Given the description of an element on the screen output the (x, y) to click on. 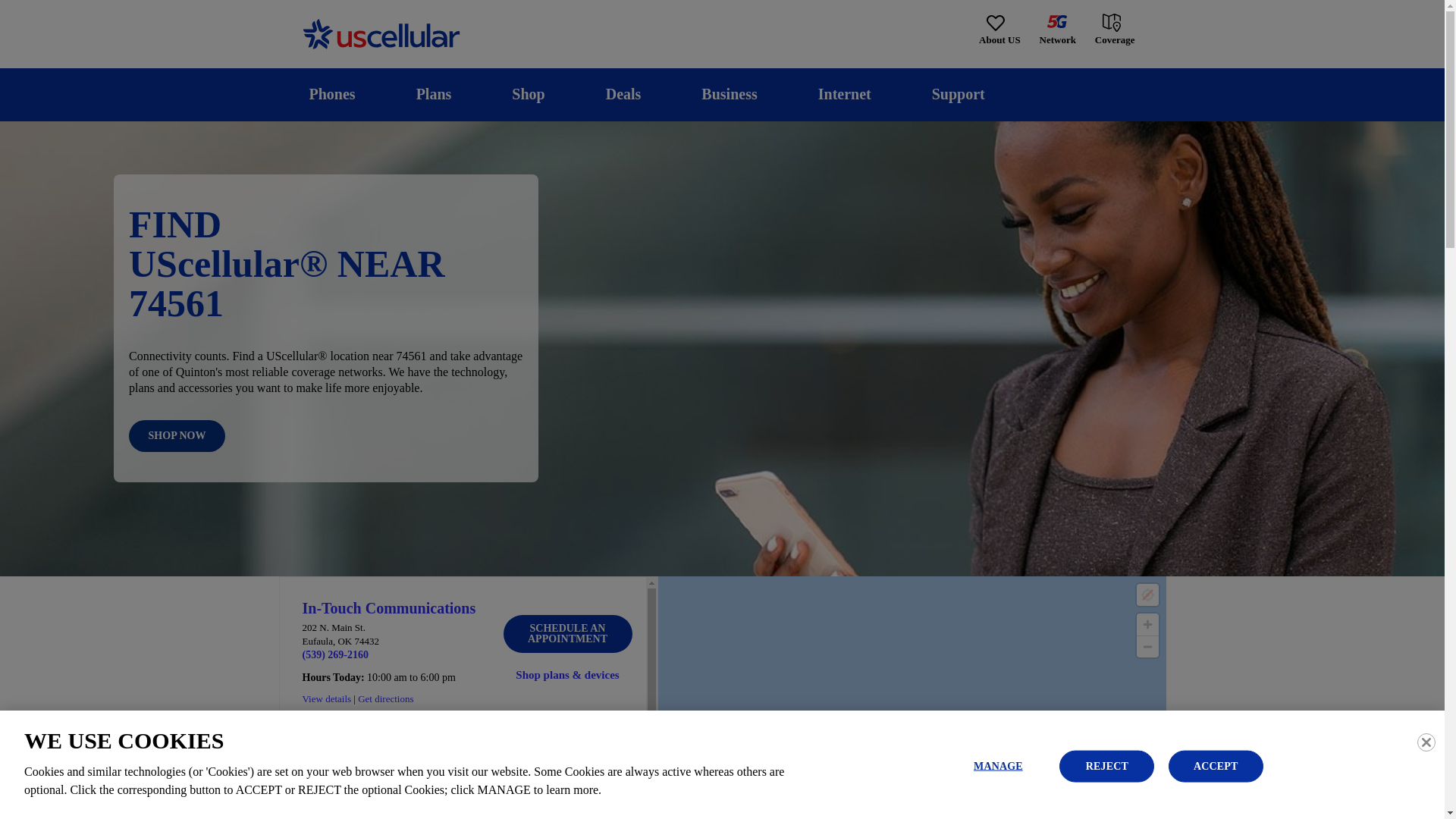
View details (325, 698)
Zoom in (1146, 624)
SCHEDULE AN APPOINTMENT (567, 633)
Plans (433, 94)
Business (729, 94)
In-Touch Communications (388, 607)
Phones (332, 94)
Internet (844, 94)
Support (957, 94)
Get directions (385, 698)
Shop (528, 94)
Deals (623, 94)
Network (1057, 30)
Zoom out (1146, 646)
About US (999, 30)
